Given the description of an element on the screen output the (x, y) to click on. 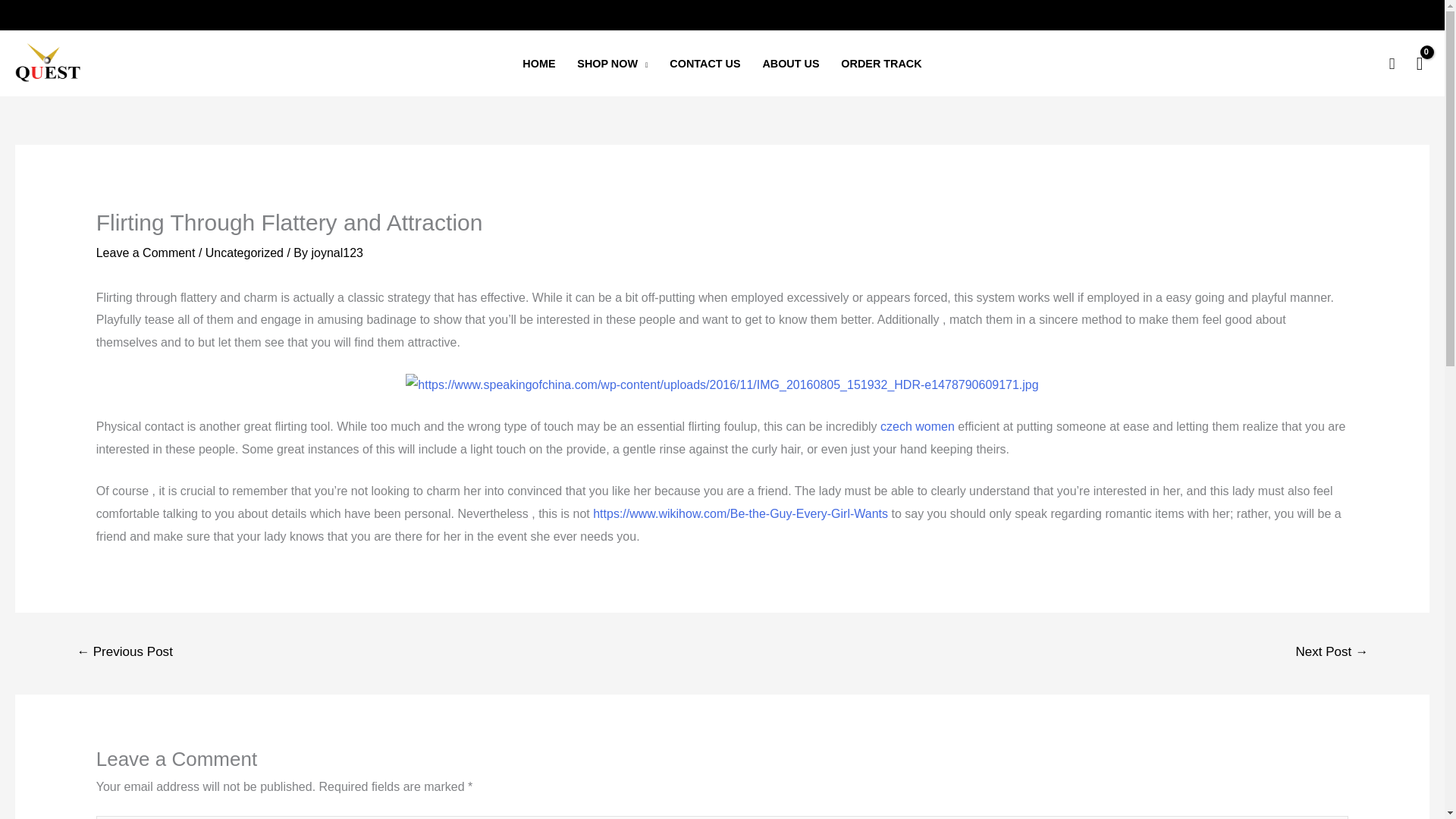
SHOP NOW (612, 63)
ABOUT US (790, 63)
joynal123 (336, 252)
Uncategorized (244, 252)
Leave a Comment (145, 252)
View all posts by joynal123 (336, 252)
CONTACT US (705, 63)
ORDER TRACK (881, 63)
HOME (539, 63)
czech women (917, 426)
